Given the description of an element on the screen output the (x, y) to click on. 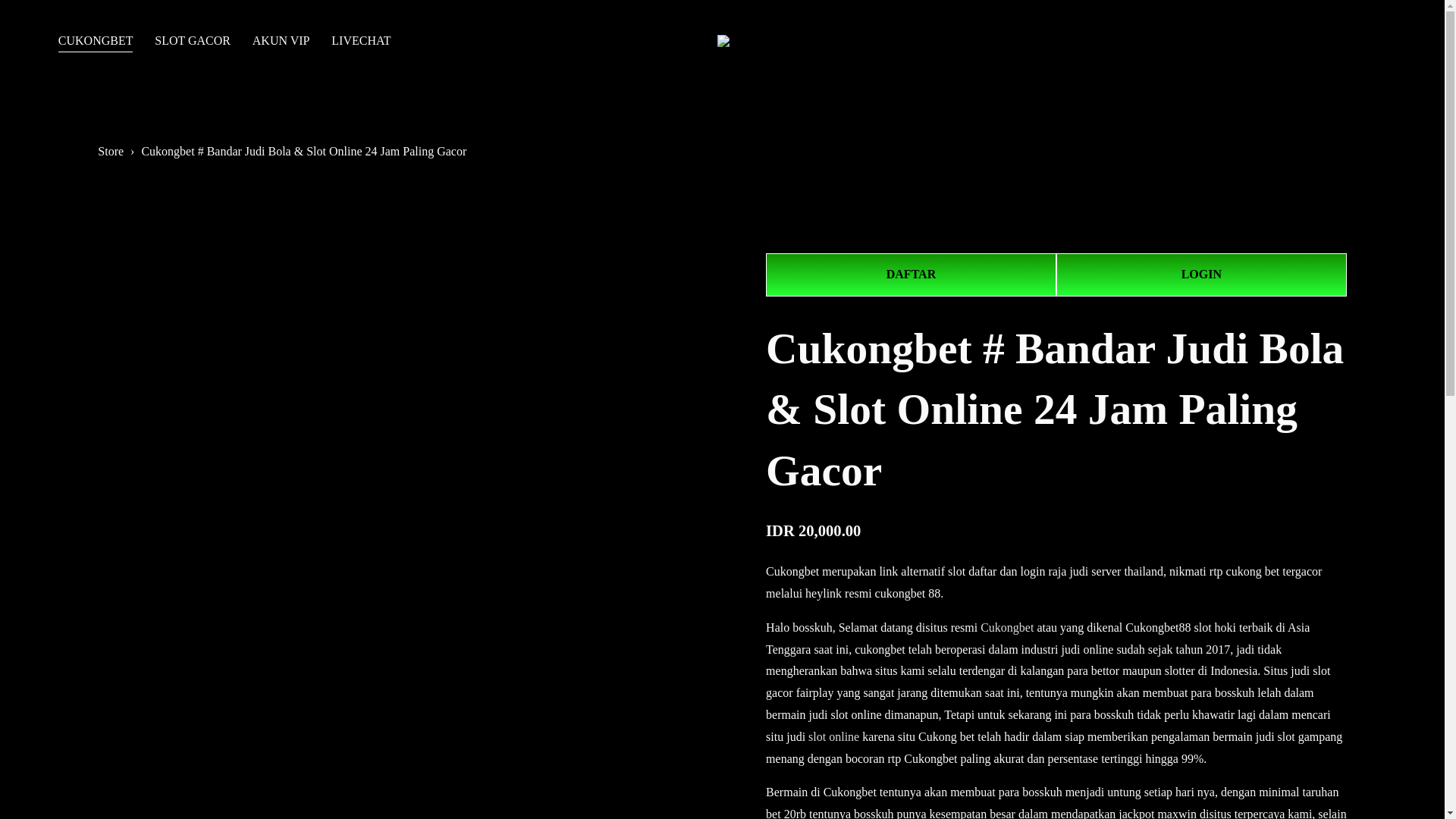
Store (110, 151)
DAFTAR (911, 274)
slot online (833, 736)
CUKONGBET (95, 40)
LOGIN (1201, 274)
AKUN VIP (280, 40)
SLOT GACOR (192, 40)
LIVECHAT (360, 40)
Cukongbet (1006, 626)
